Given the description of an element on the screen output the (x, y) to click on. 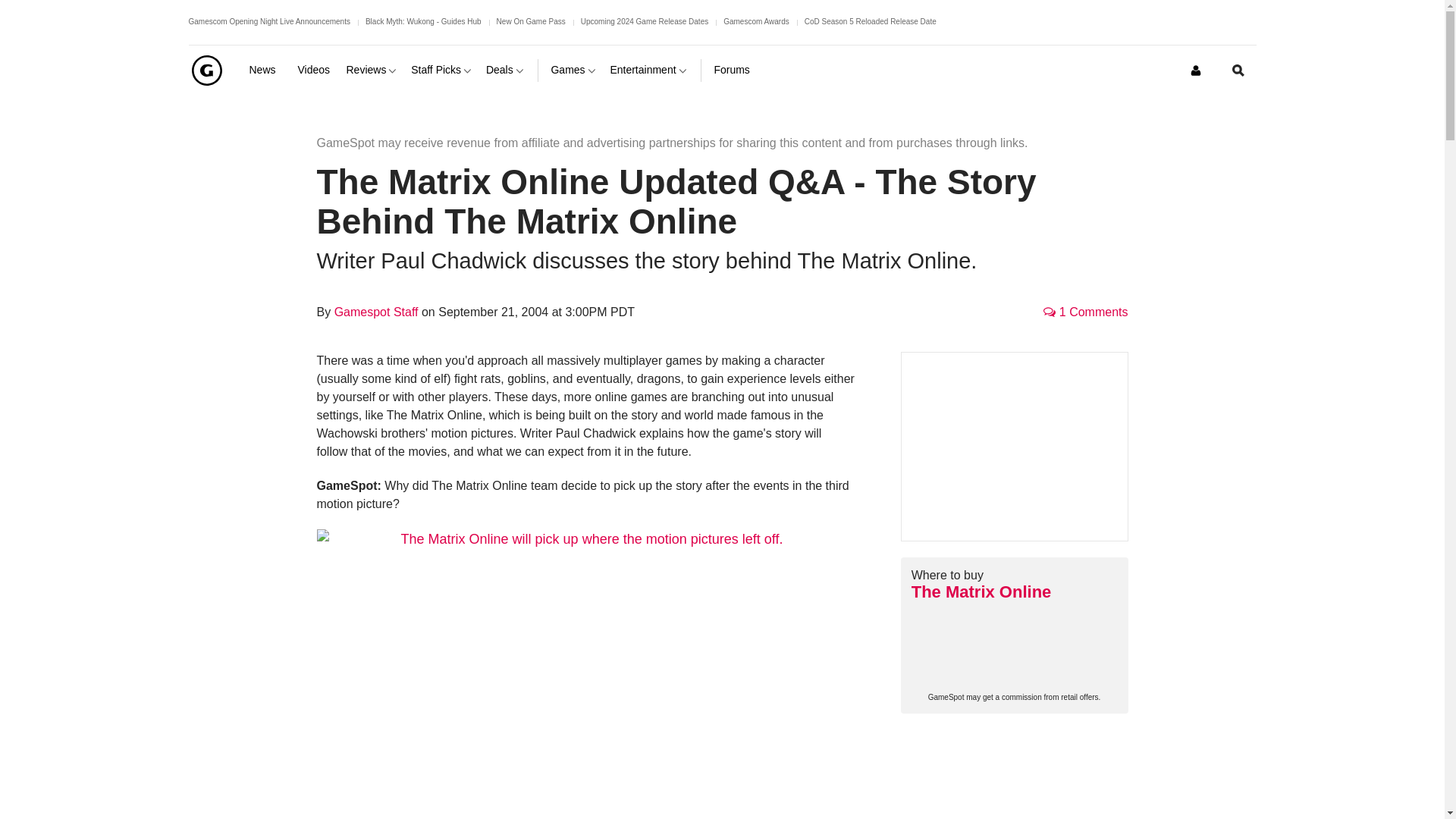
Games (573, 70)
Gamescom Awards (756, 21)
Staff Picks (442, 70)
Upcoming 2024 Game Release Dates (643, 21)
New On Game Pass (531, 21)
GameSpot (205, 70)
Videos (315, 70)
Black Myth: Wukong - Guides Hub (423, 21)
News (266, 70)
